Given the description of an element on the screen output the (x, y) to click on. 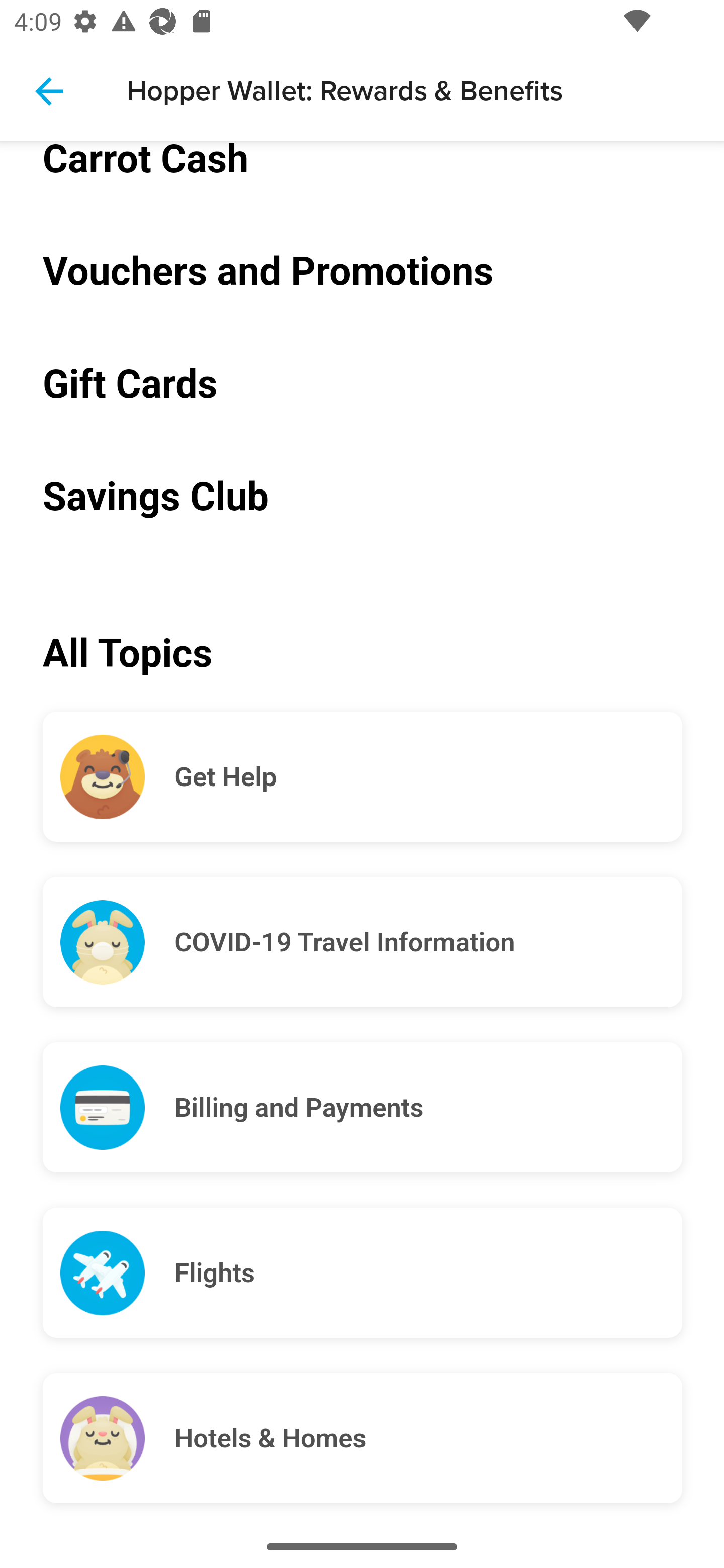
Navigate up (49, 91)
Get Help (428, 777)
COVID-19 Travel Information (428, 943)
Billing and Payments (428, 1108)
Flights (428, 1273)
Hotels & Homes (428, 1438)
